Given the description of an element on the screen output the (x, y) to click on. 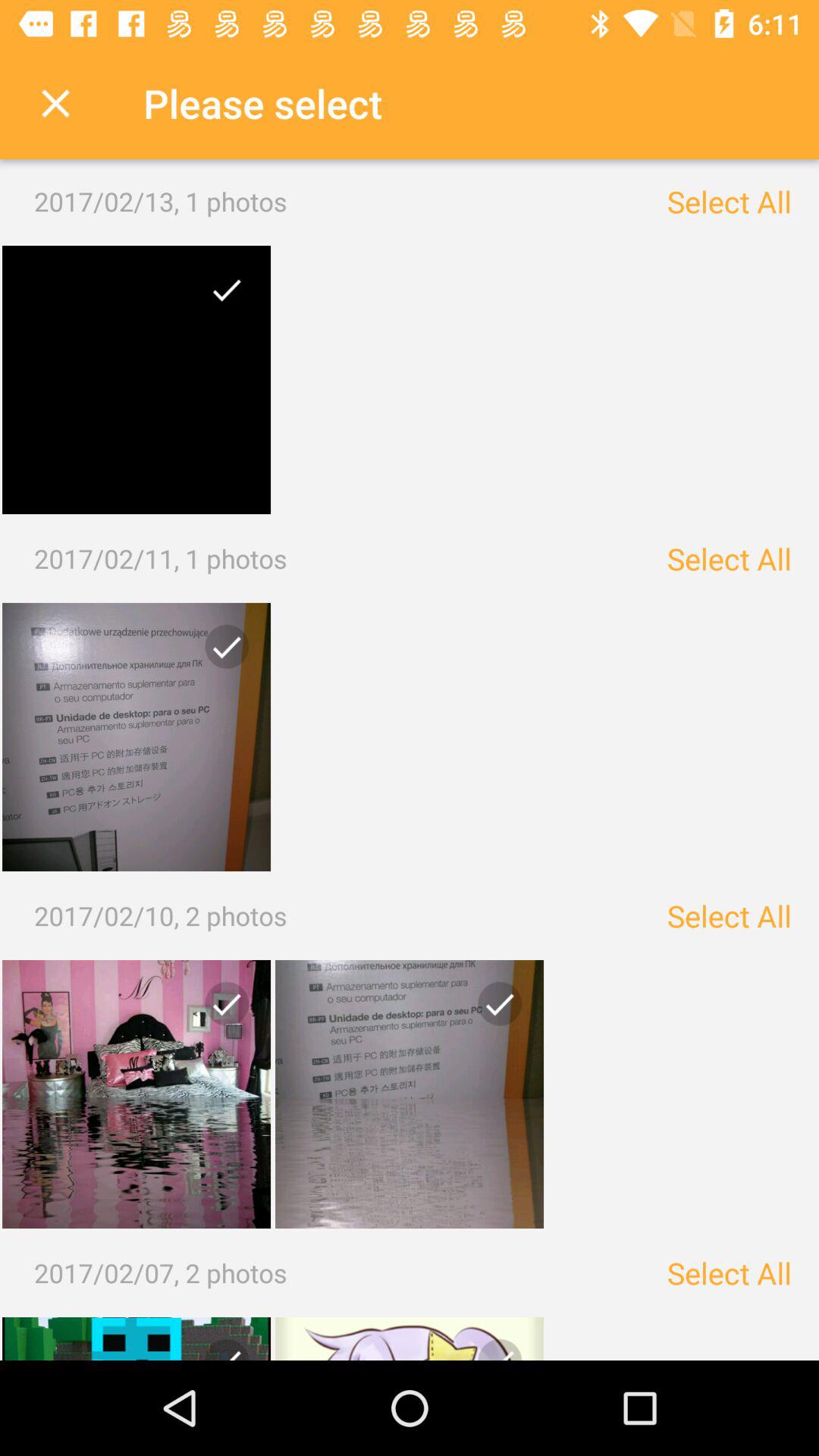
select/ de-select the image (220, 295)
